Given the description of an element on the screen output the (x, y) to click on. 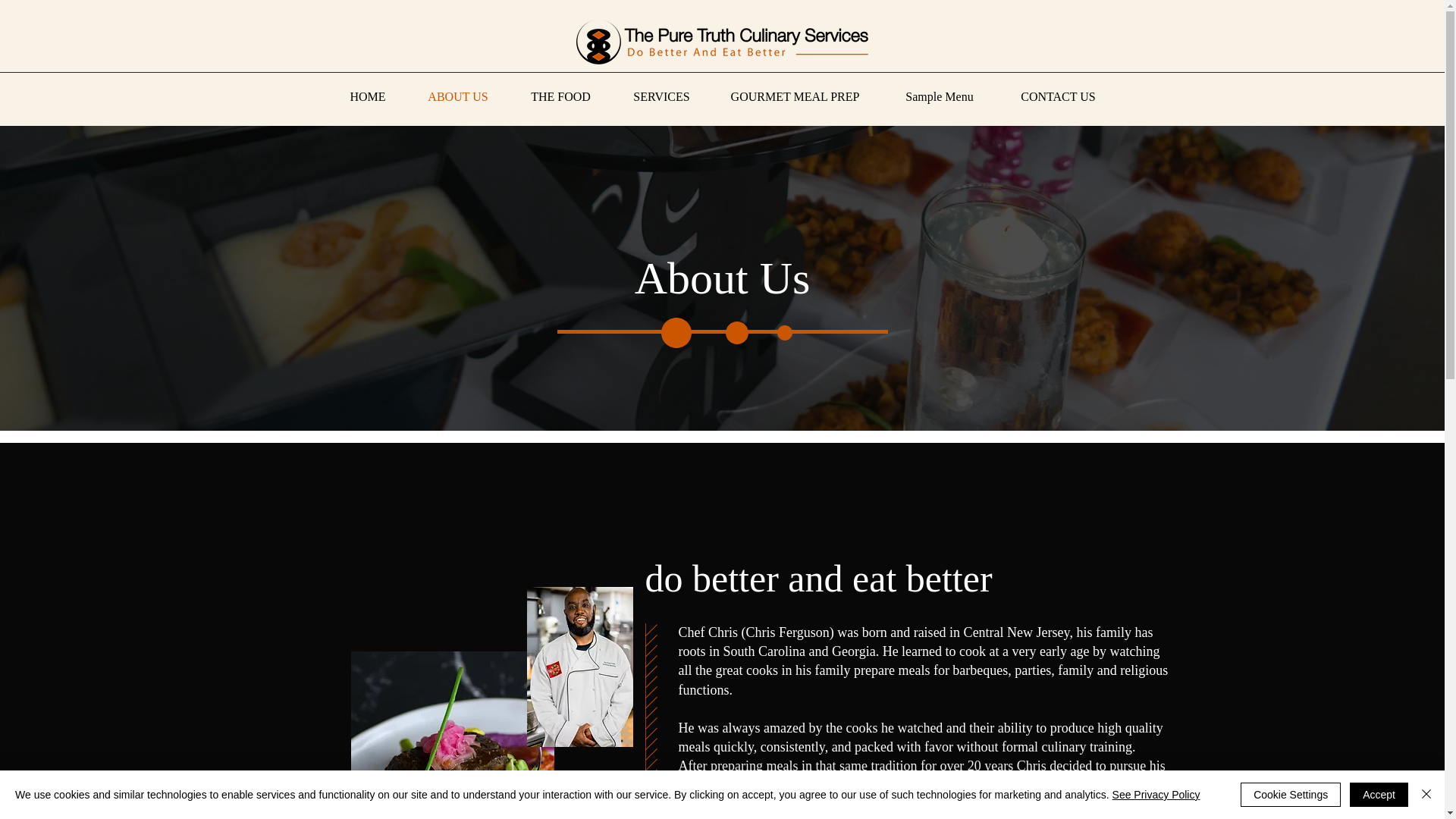
GOURMET MEAL PREP (795, 96)
Accept (1378, 794)
CONTACT US (1057, 96)
Sample Menu (939, 96)
HOME (368, 96)
THE FOOD (560, 96)
SERVICES (661, 96)
Cookie Settings (1290, 794)
ABOUT US (457, 96)
See Privacy Policy (1155, 794)
